Given the description of an element on the screen output the (x, y) to click on. 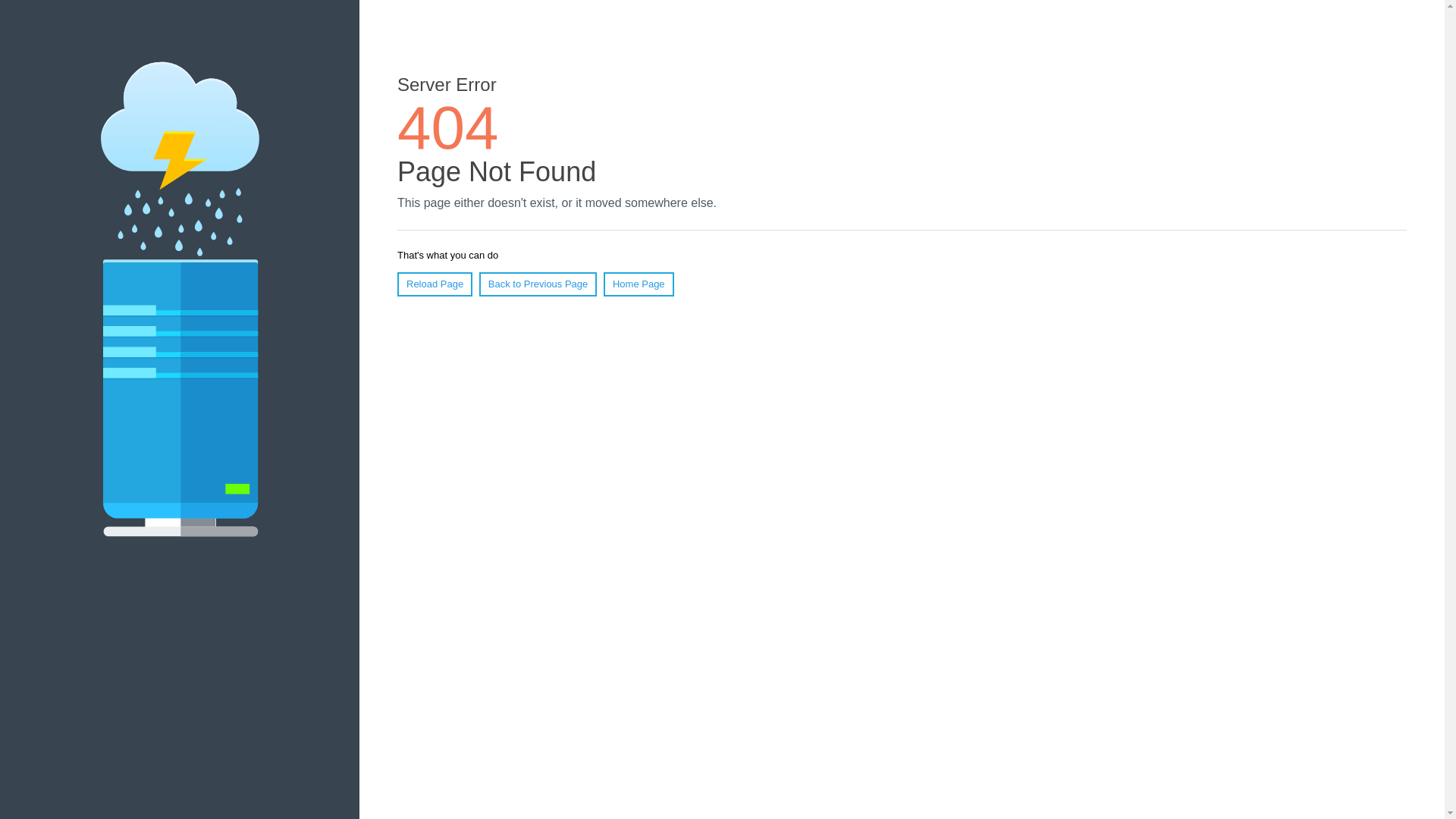
Back to Previous Page Element type: text (538, 284)
Home Page Element type: text (638, 284)
Reload Page Element type: text (434, 284)
